Given the description of an element on the screen output the (x, y) to click on. 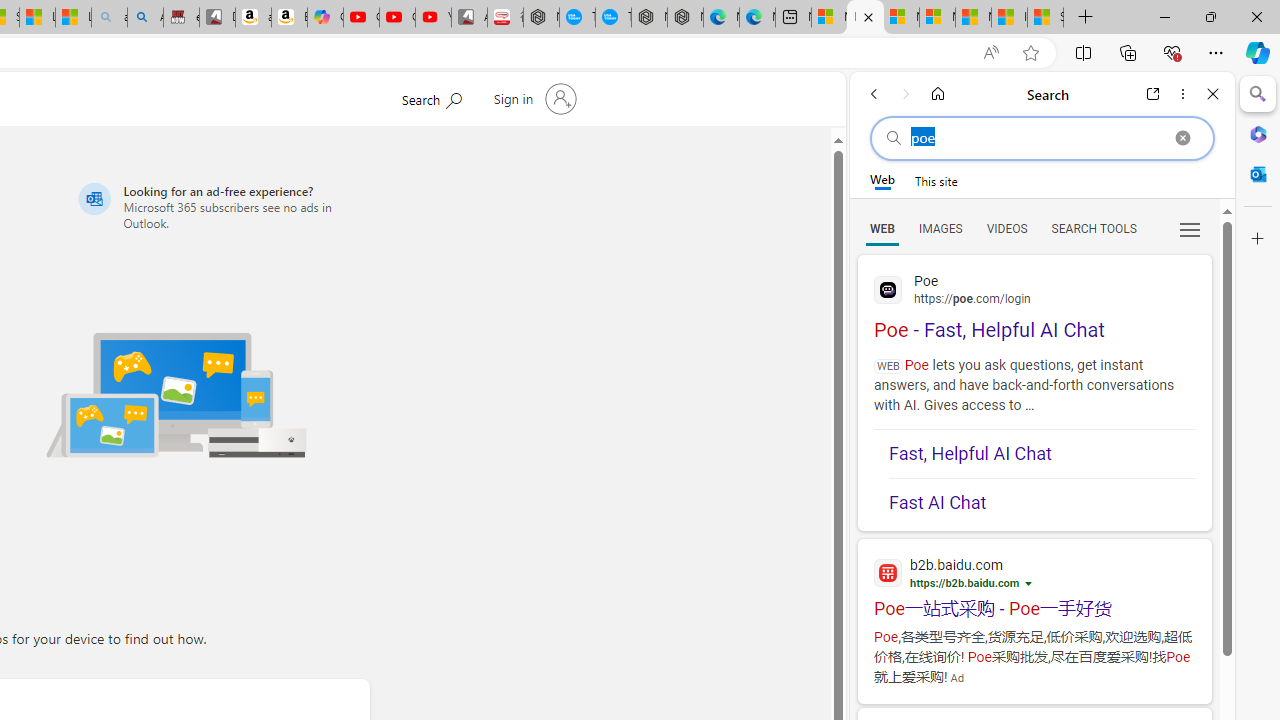
Fast, Helpful AI Chat (1042, 453)
Gloom - YouTube (397, 17)
The most popular Google 'how to' searches (613, 17)
Fast, Helpful AI Chat (1042, 453)
Microsoft account | Privacy (937, 17)
Poe (1034, 288)
More options (1182, 93)
Search the web (1041, 137)
All Cubot phones (469, 17)
https://b2b.baidu.com (965, 582)
